Given the description of an element on the screen output the (x, y) to click on. 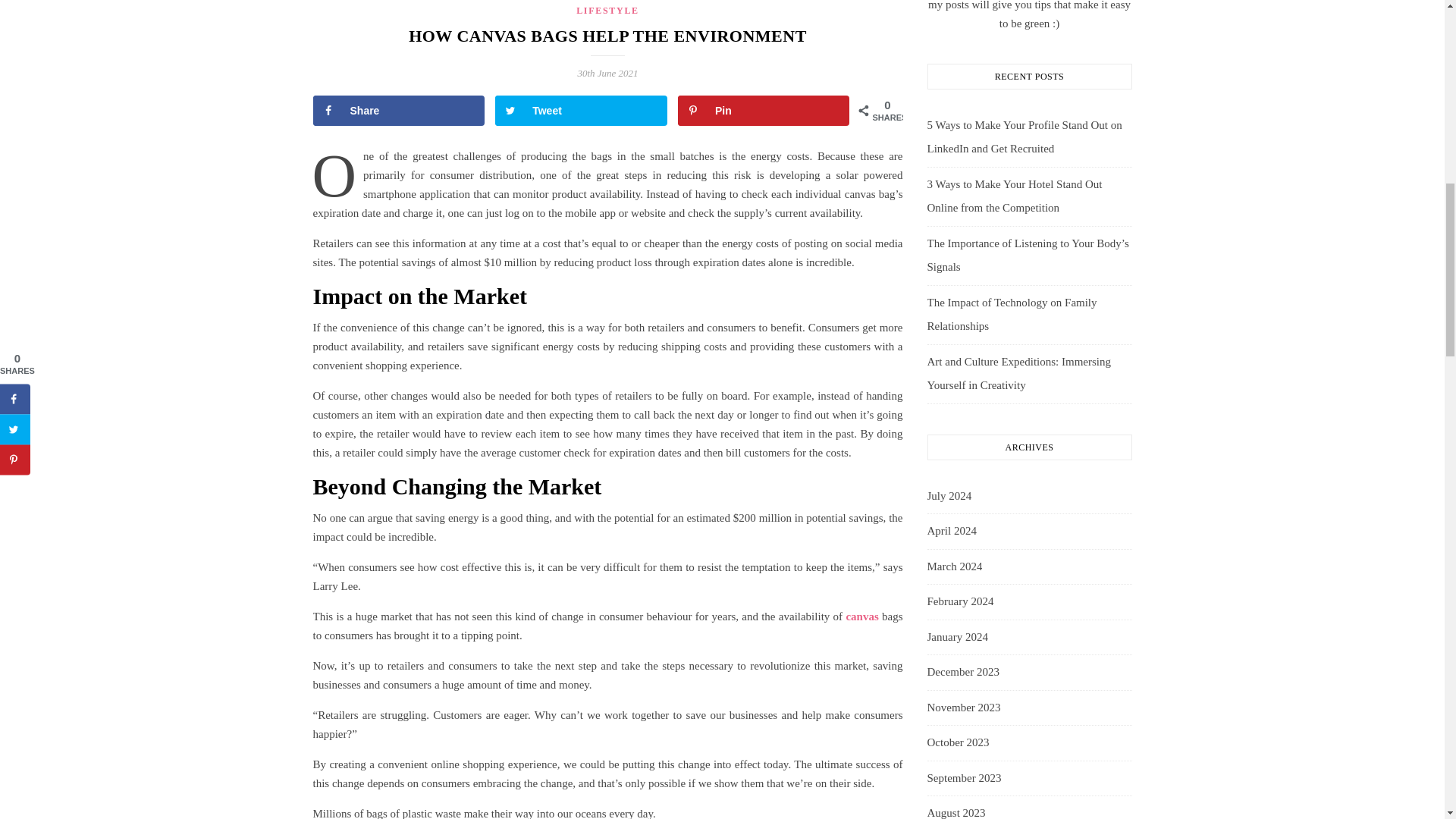
Share (398, 110)
Share on Twitter (580, 110)
Save to Pinterest (764, 110)
Share on Facebook (398, 110)
Tweet (580, 110)
LIFESTYLE (607, 9)
Pin (764, 110)
canvas (863, 616)
